Given the description of an element on the screen output the (x, y) to click on. 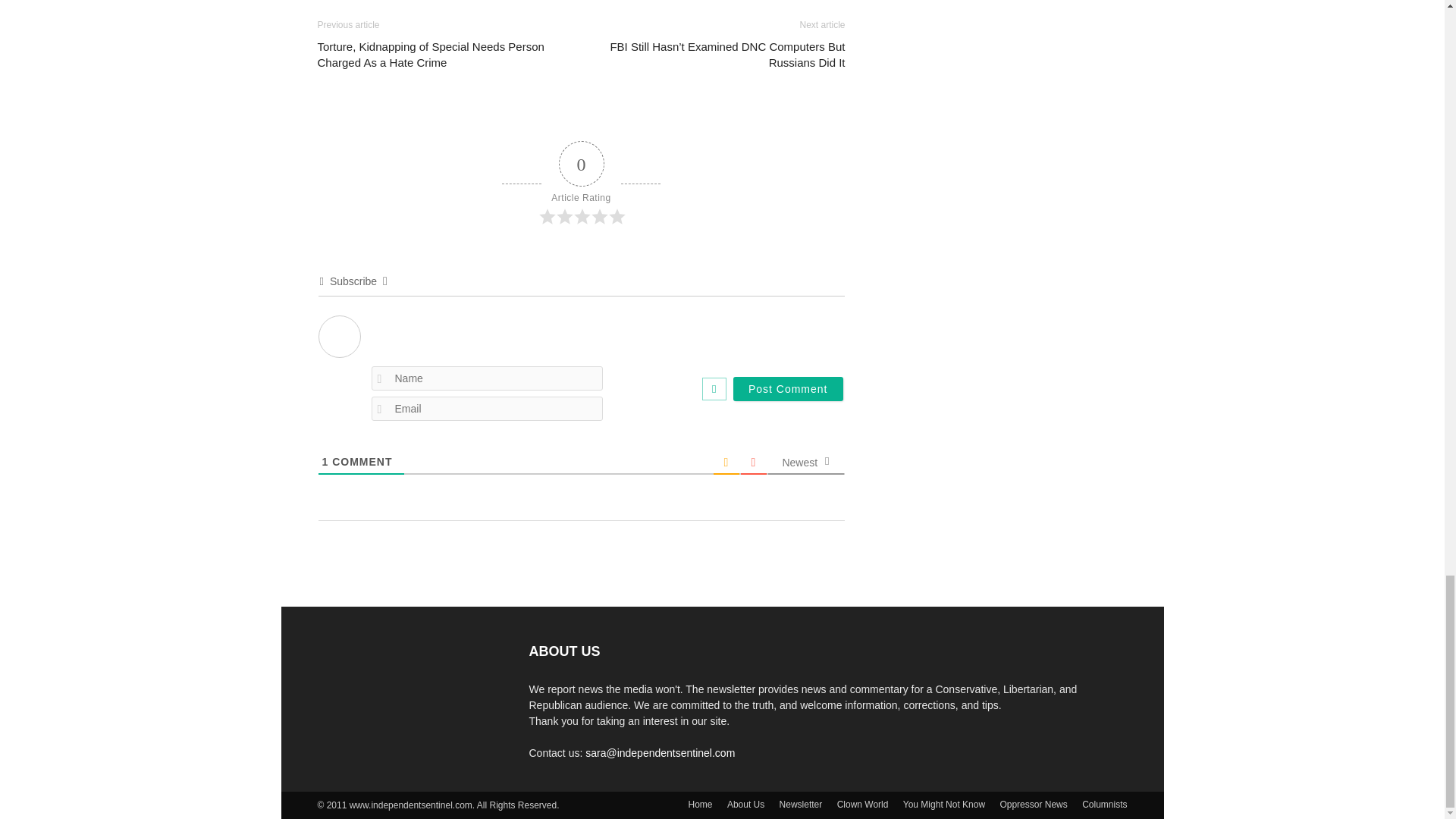
Post Comment (788, 388)
